Given the description of an element on the screen output the (x, y) to click on. 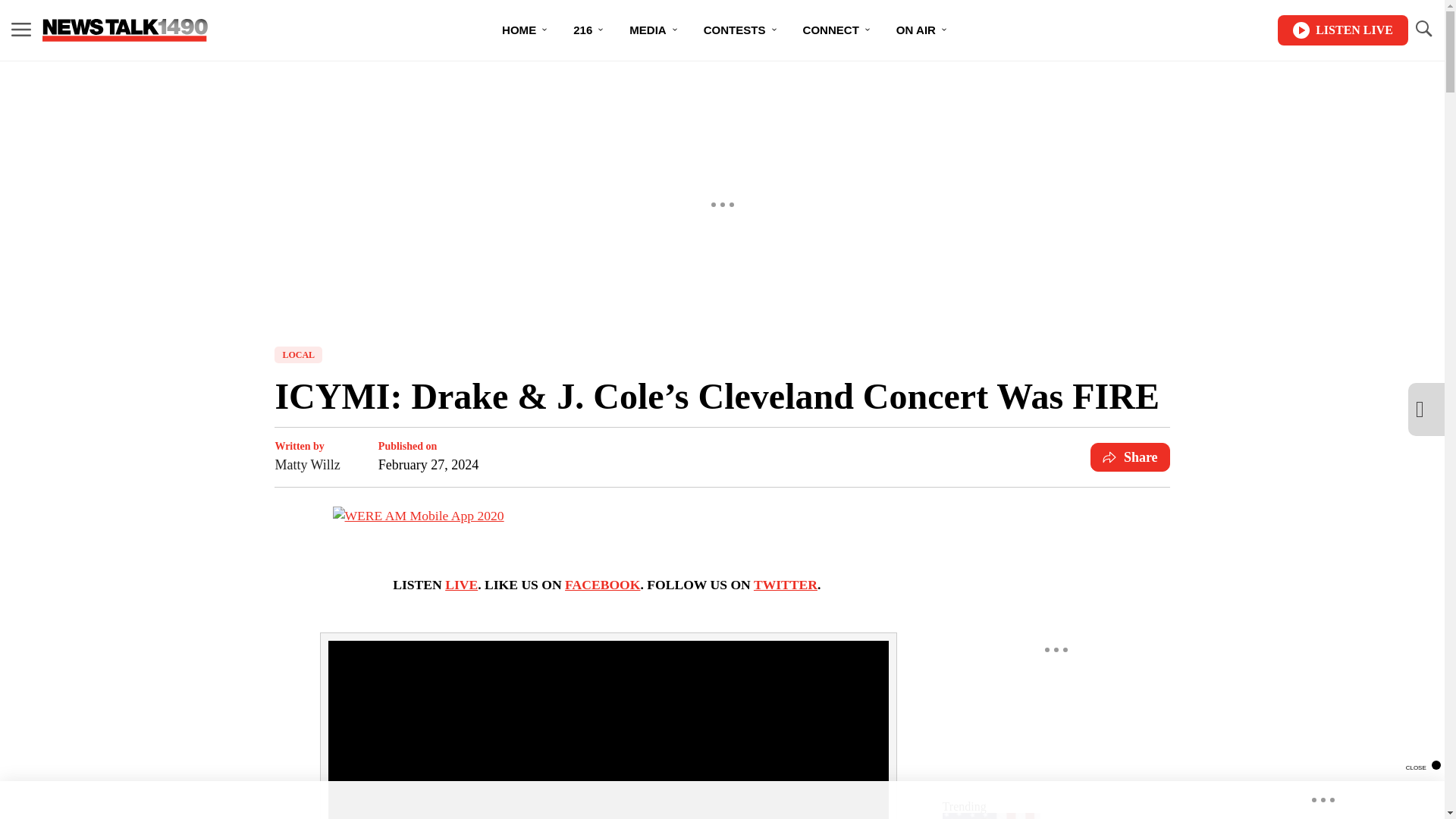
CONTESTS (740, 30)
HOME (524, 30)
MENU (20, 29)
TWITTER (785, 584)
216 (588, 30)
Matty Willz (307, 464)
MEDIA (653, 30)
FACEBOOK (602, 584)
LIVE (461, 584)
MENU (20, 30)
